Given the description of an element on the screen output the (x, y) to click on. 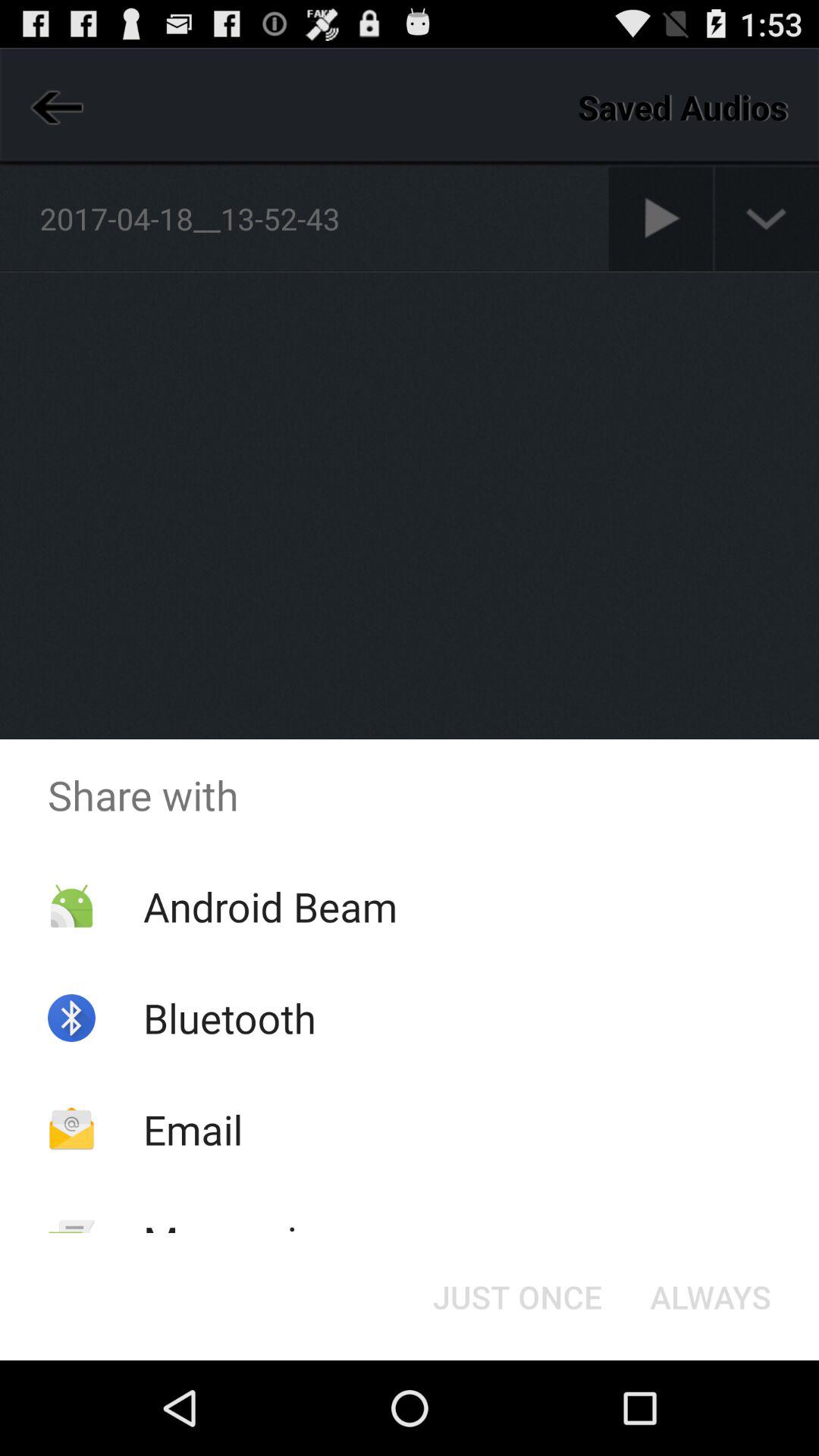
jump to email app (192, 1128)
